Given the description of an element on the screen output the (x, y) to click on. 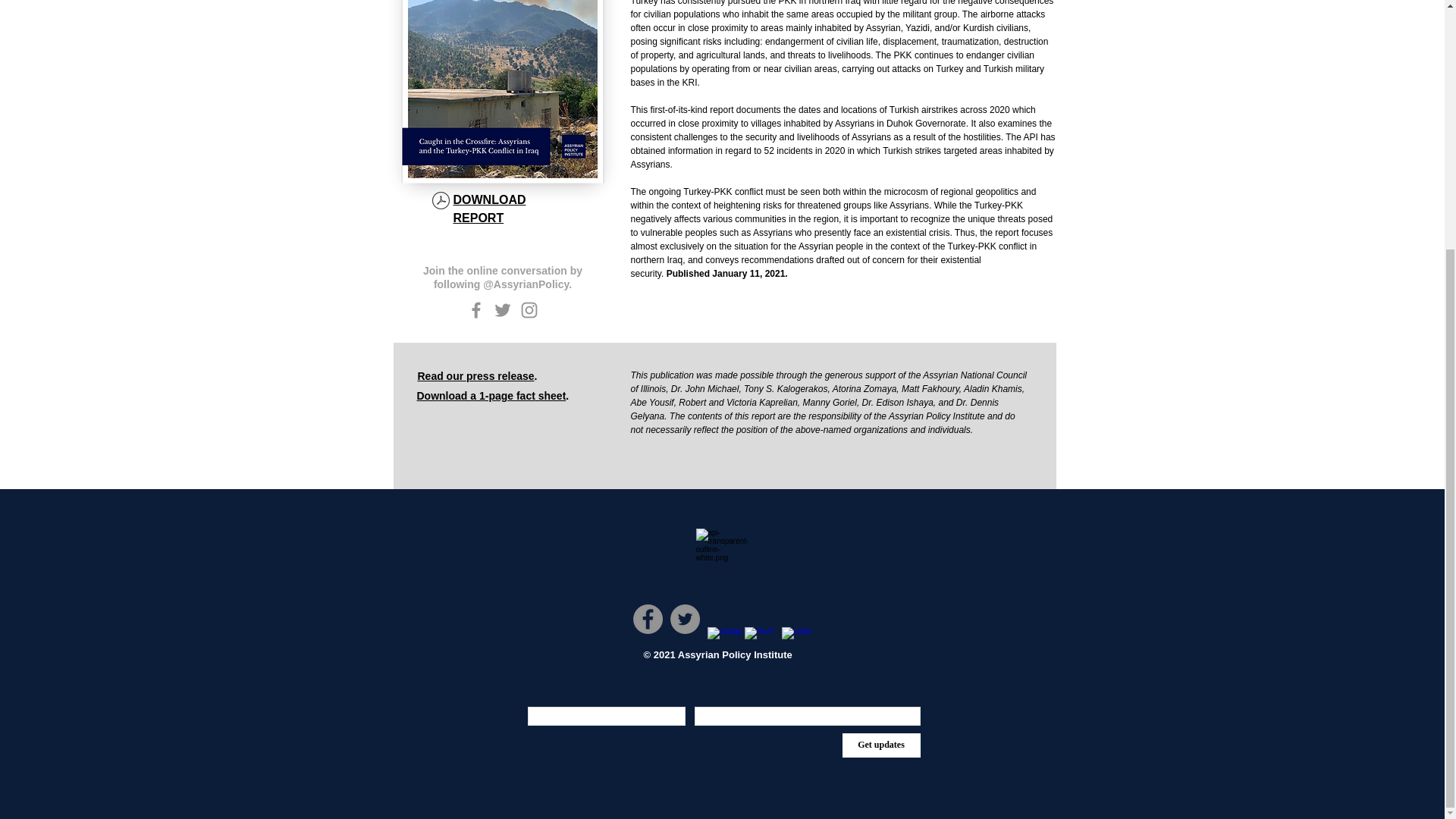
Caught in the Crossfire - Final.pdf (440, 202)
Download a 1-page fact sheet. (492, 395)
DOWNLOAD REPORT (488, 208)
Get updates (880, 745)
Read our press release (475, 376)
